Given the description of an element on the screen output the (x, y) to click on. 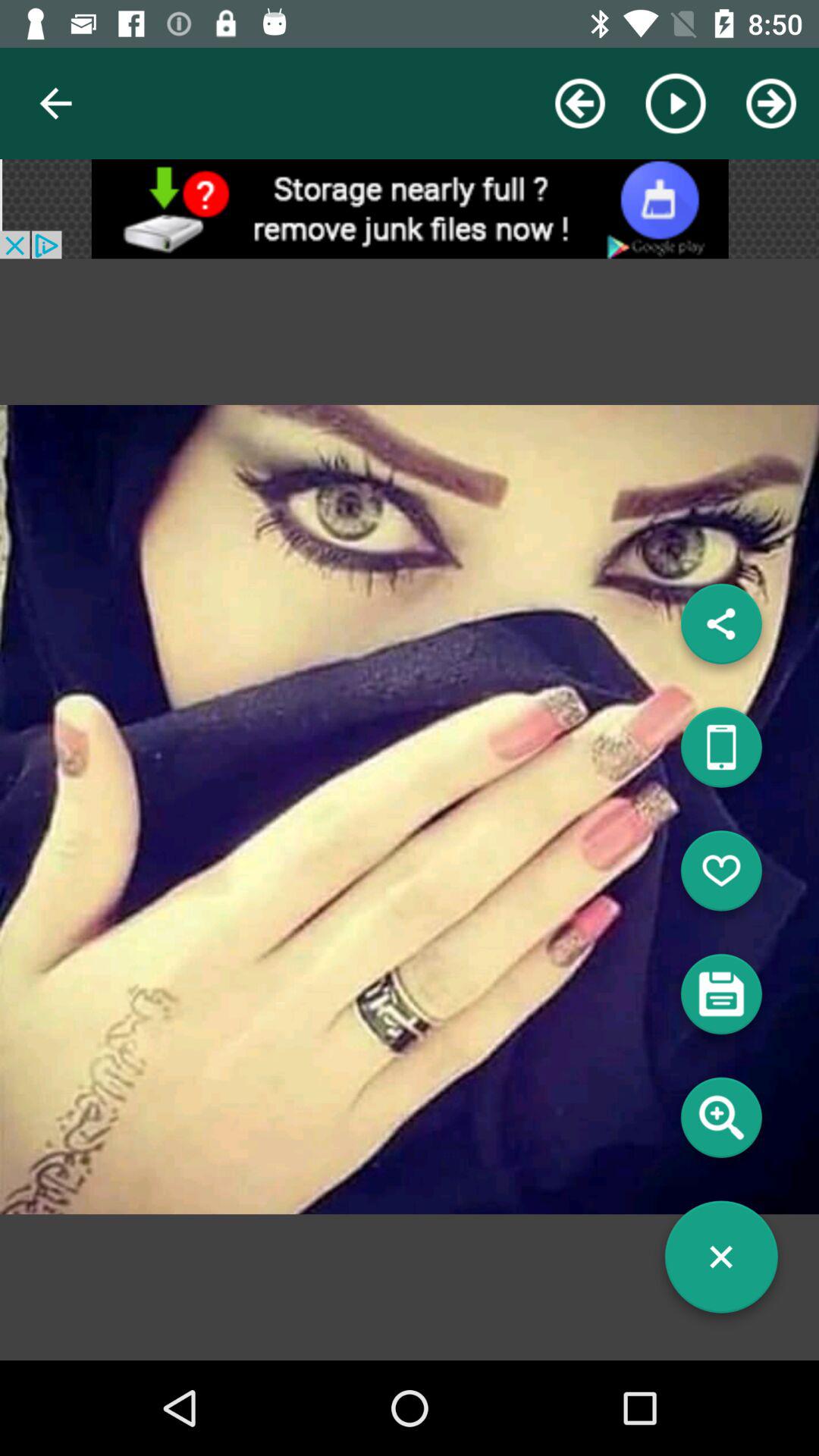
save (721, 999)
